Given the description of an element on the screen output the (x, y) to click on. 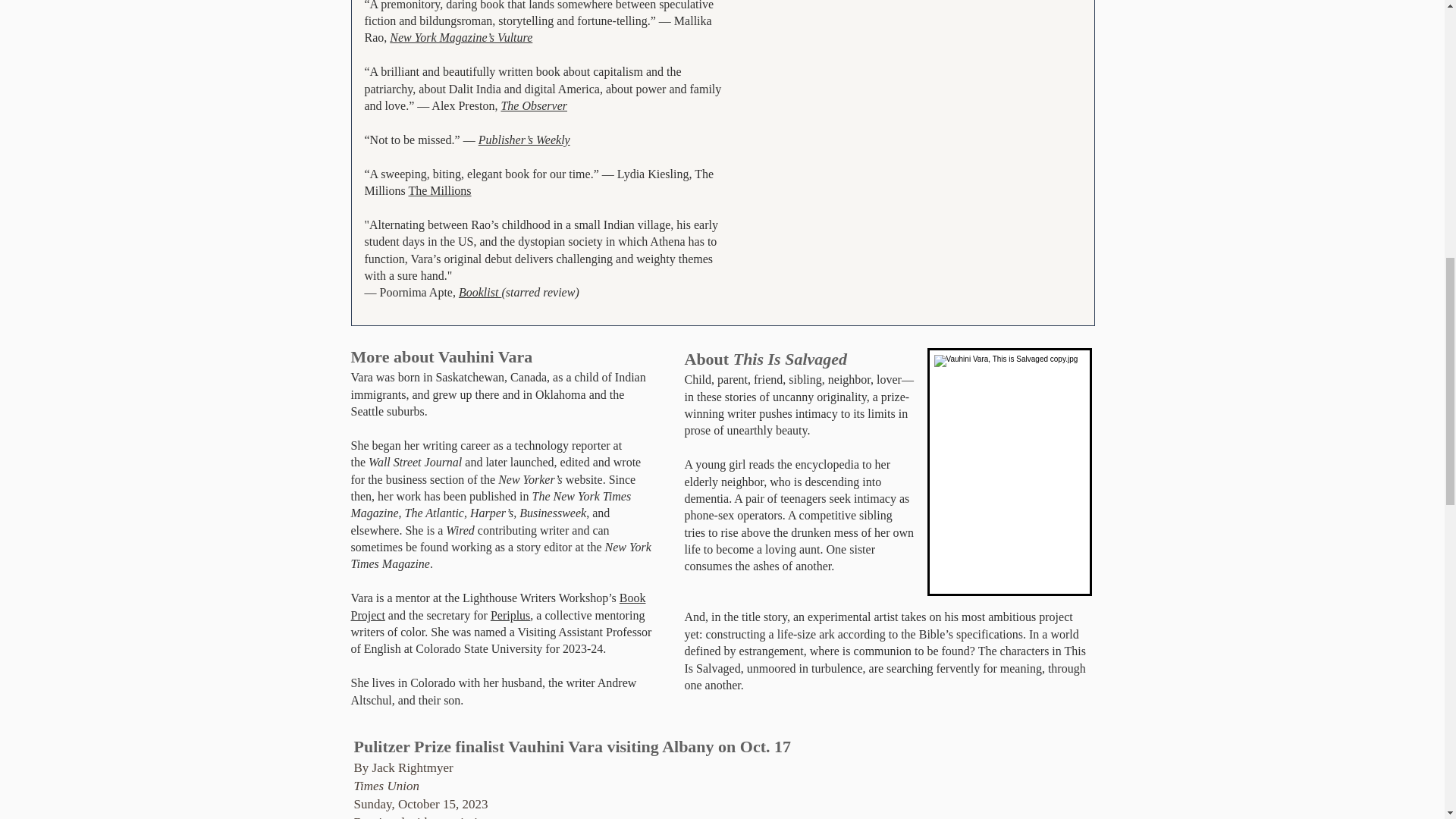
The Millions (438, 190)
The Observer (533, 105)
Booklist (479, 291)
